Given the description of an element on the screen output the (x, y) to click on. 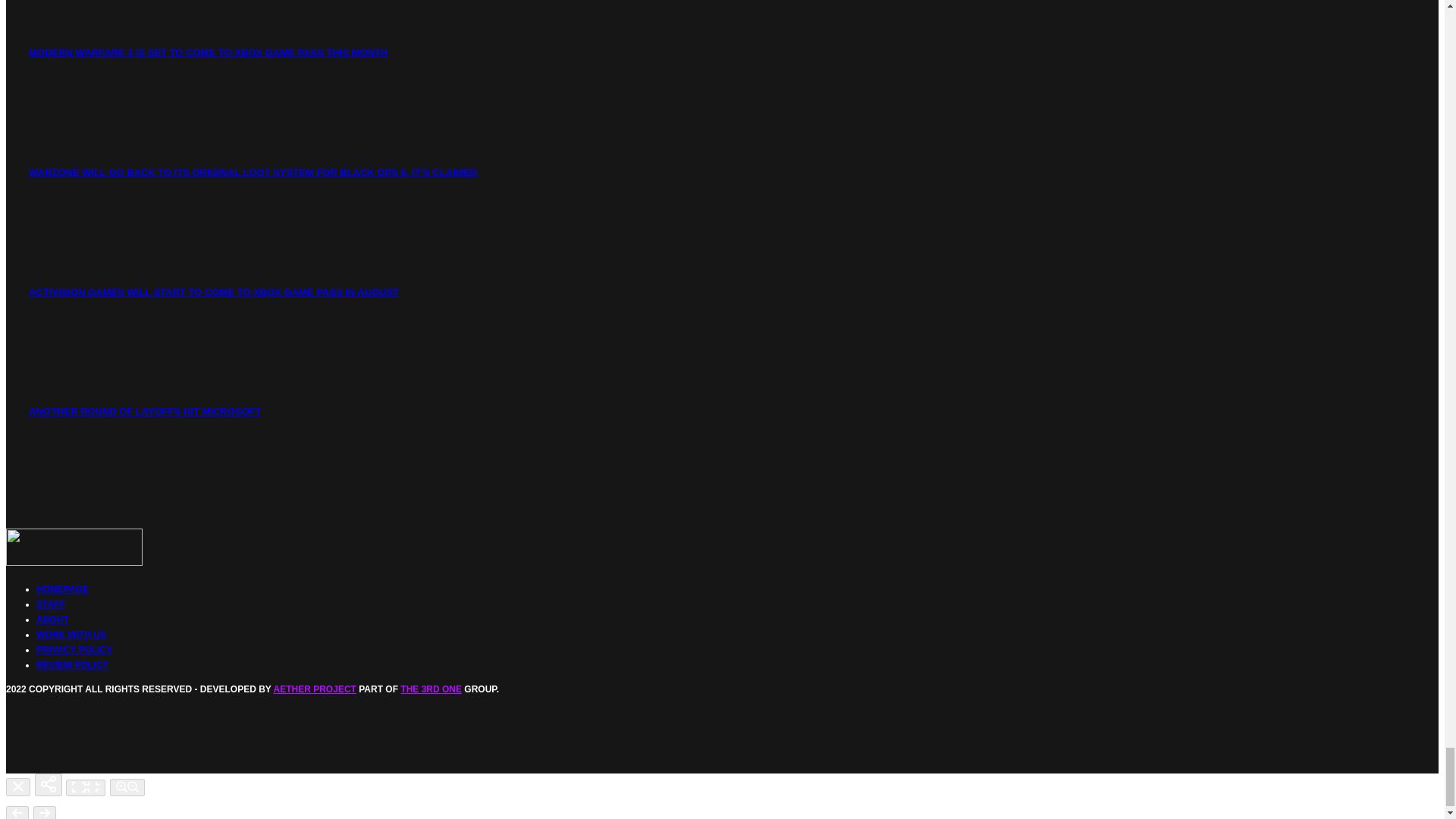
Share (48, 784)
Toggle fullscreen (84, 787)
Close (17, 787)
